Given the description of an element on the screen output the (x, y) to click on. 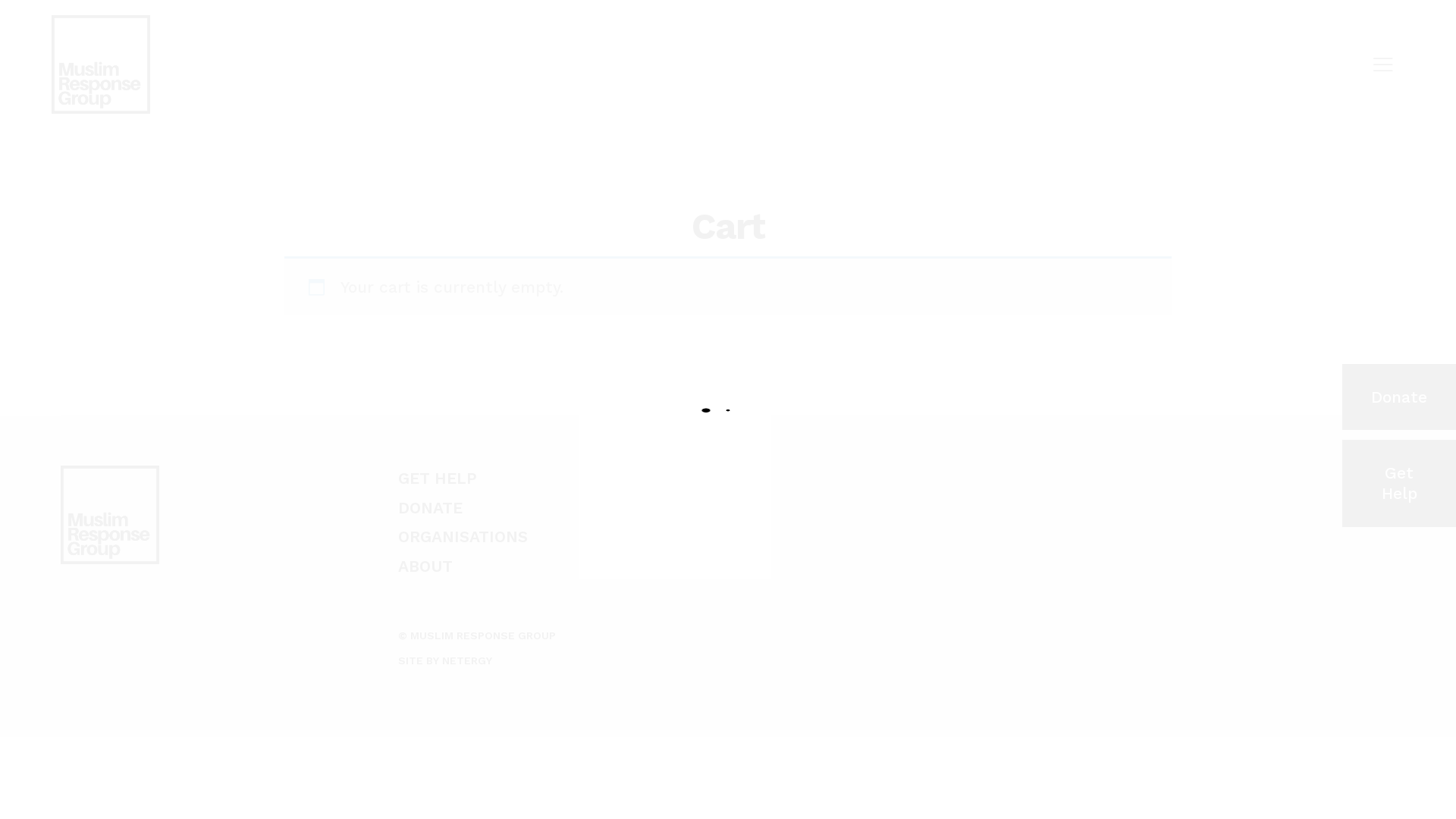
DONATE Element type: text (430, 507)
NETERGY Element type: text (467, 660)
ORGANISATIONS Element type: text (462, 536)
GET HELP Element type: text (437, 477)
Donate Element type: text (1399, 396)
Get Help Element type: text (1399, 483)
ABOUT Element type: text (425, 565)
